Given the description of an element on the screen output the (x, y) to click on. 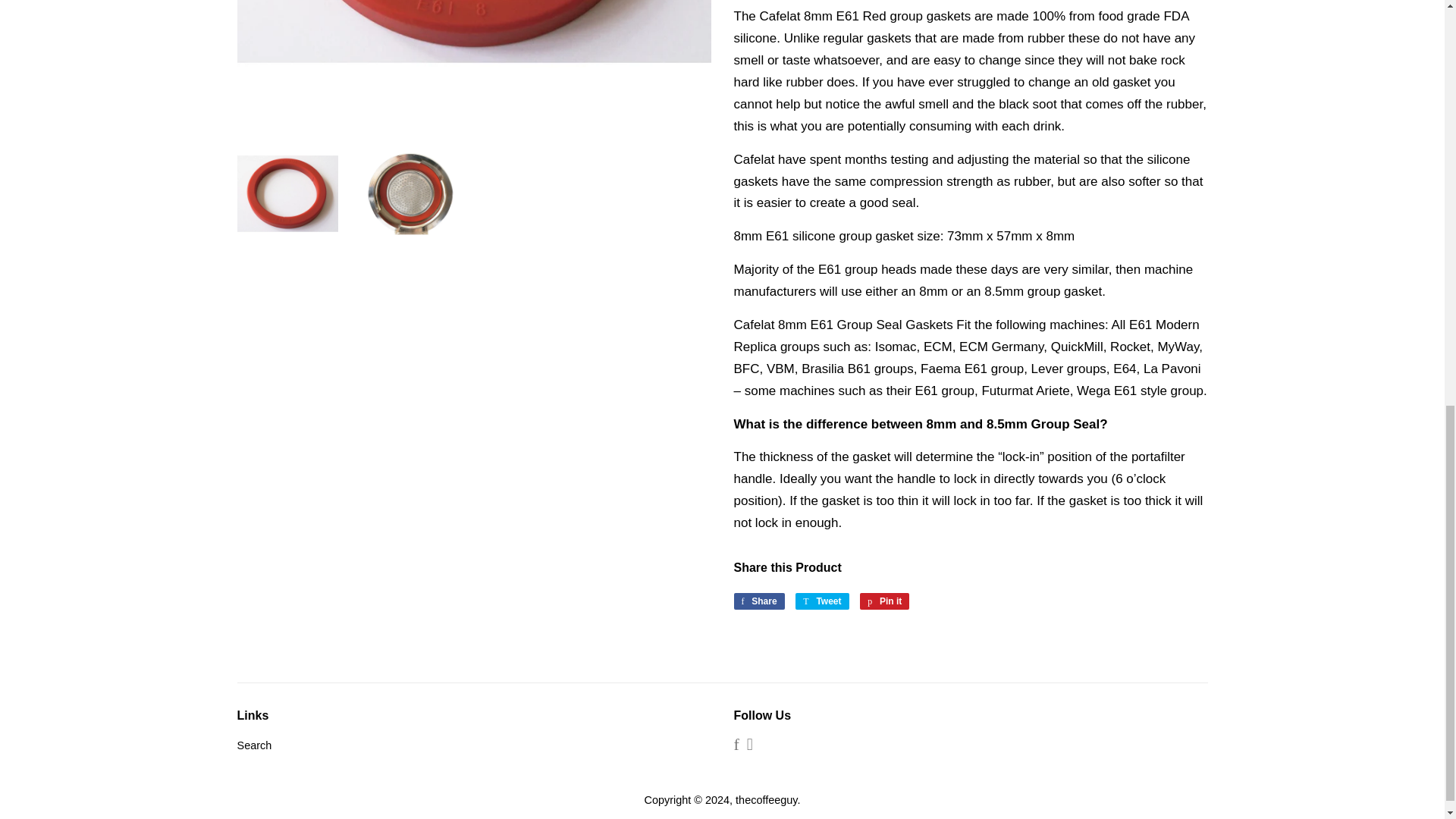
Pin on Pinterest (884, 600)
Share on Facebook (758, 600)
Tweet on Twitter (821, 600)
